Given the description of an element on the screen output the (x, y) to click on. 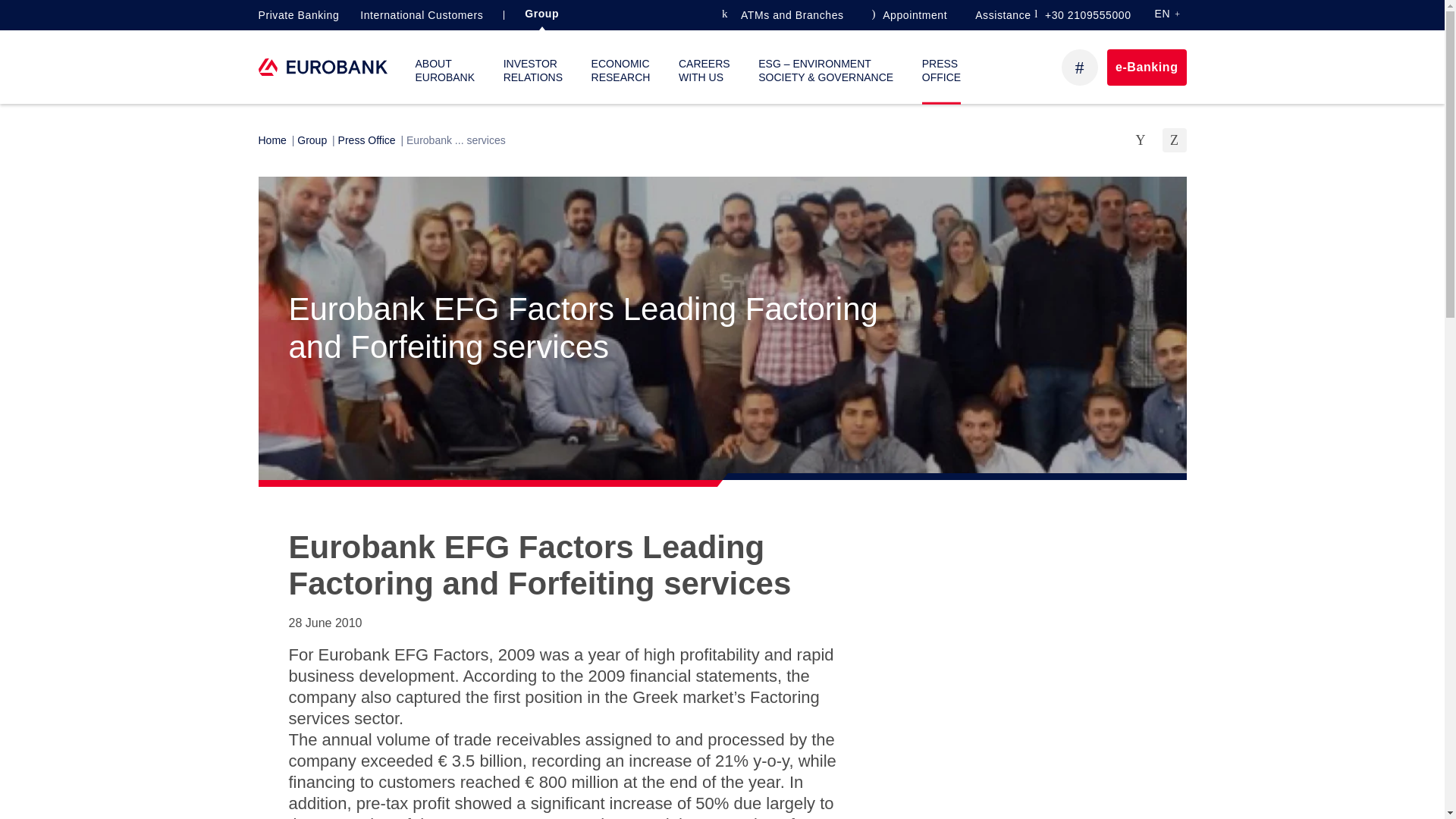
Appointment (909, 15)
ATMs and Branches (783, 15)
Search (1079, 66)
International Customers (421, 15)
Private Banking (298, 15)
Group (541, 13)
